Given the description of an element on the screen output the (x, y) to click on. 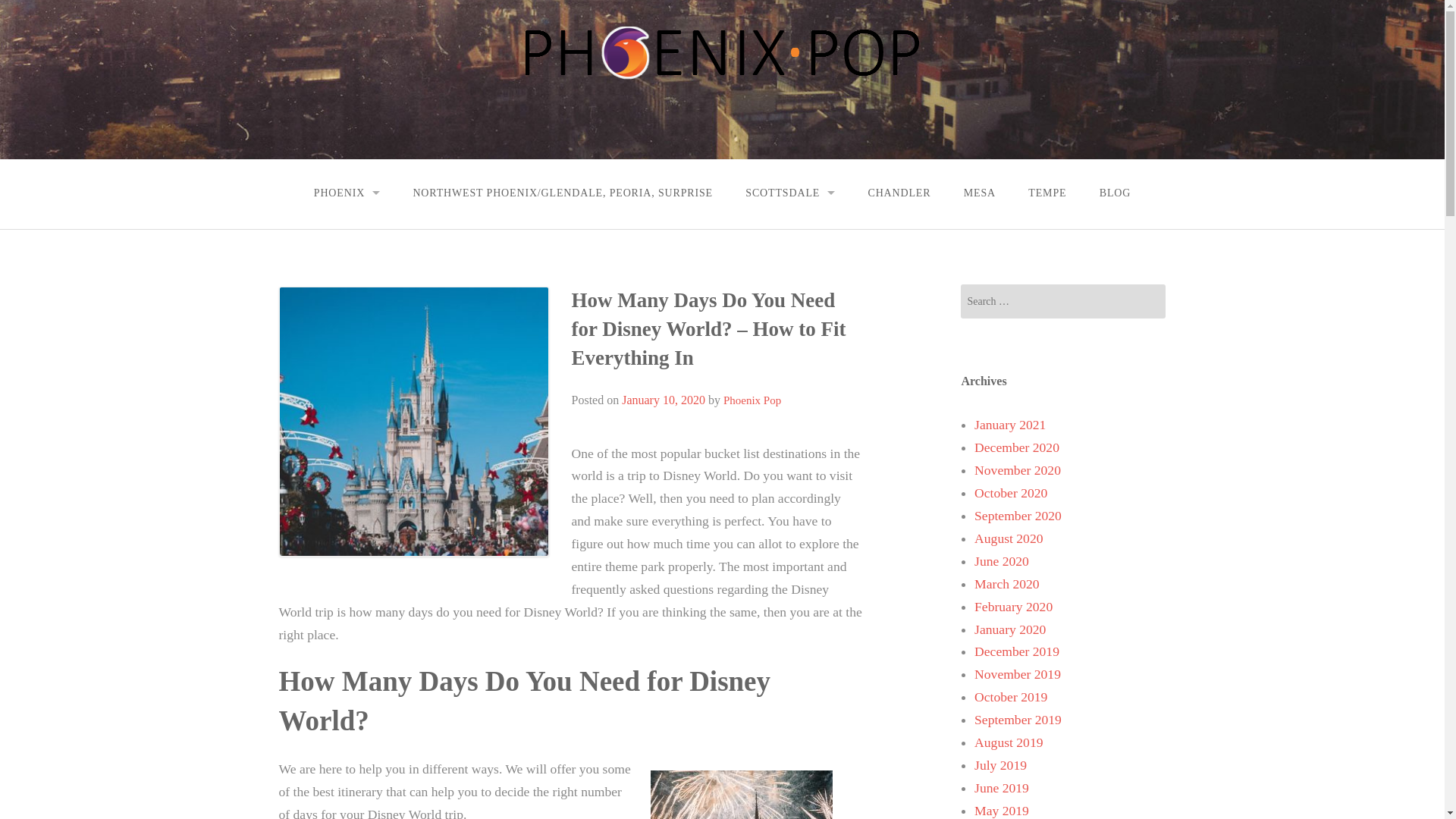
PHOENIX WEST (347, 371)
PHOENIX (346, 192)
MESA (979, 192)
Phoenix Pop (751, 399)
How Many Days Do You Need for Disney World (741, 794)
PHOENIX NORTH (347, 337)
SCOTTSDALE NORTH (790, 269)
TEMPE (1047, 192)
SCOTTSDALE (790, 192)
BLOG (1115, 192)
CHANDLER (899, 192)
SCOTTDALE DOWNTOWN (790, 235)
January 10, 2020 (662, 399)
